Given the description of an element on the screen output the (x, y) to click on. 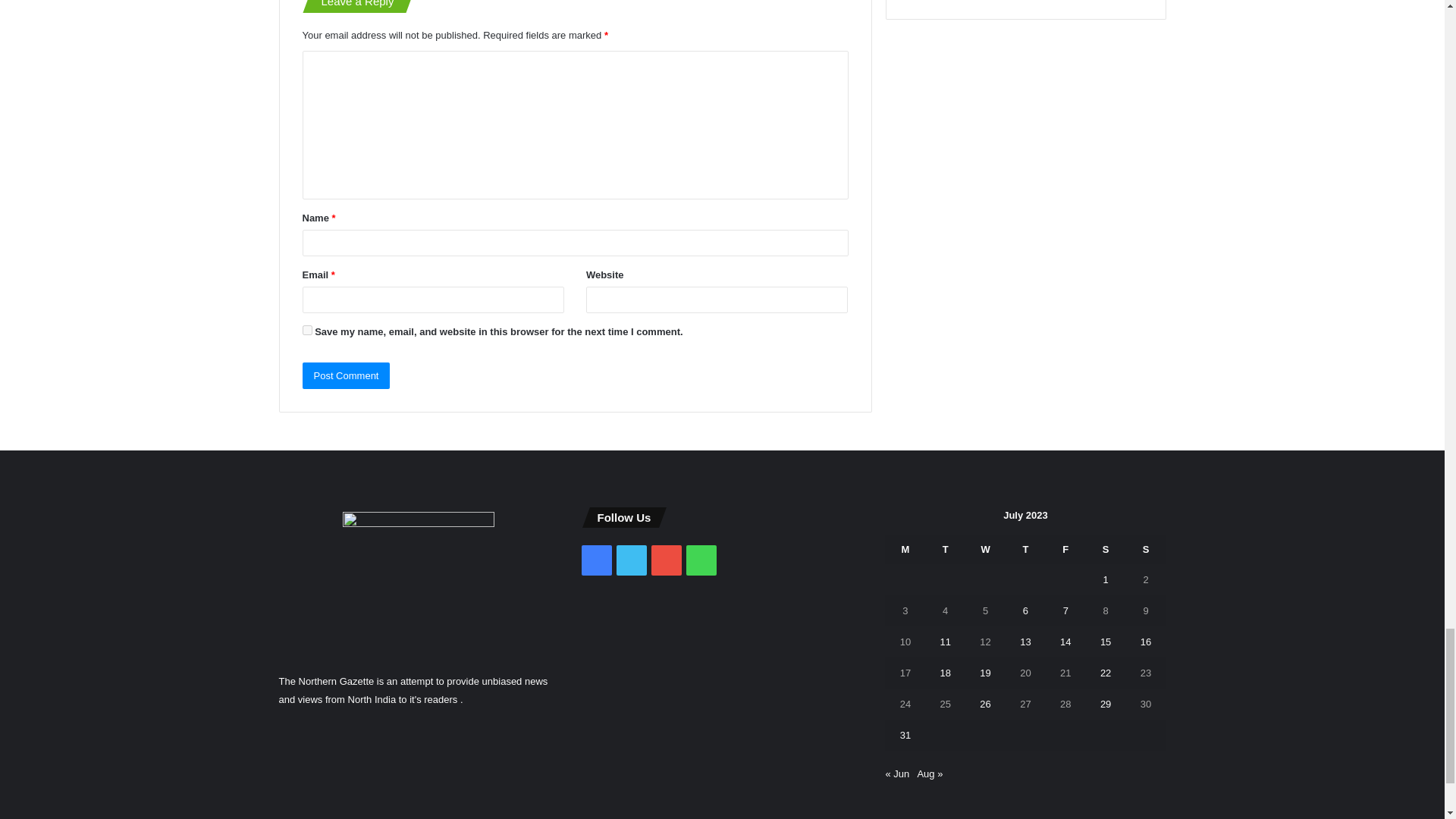
Post Comment (345, 375)
yes (306, 329)
